Given the description of an element on the screen output the (x, y) to click on. 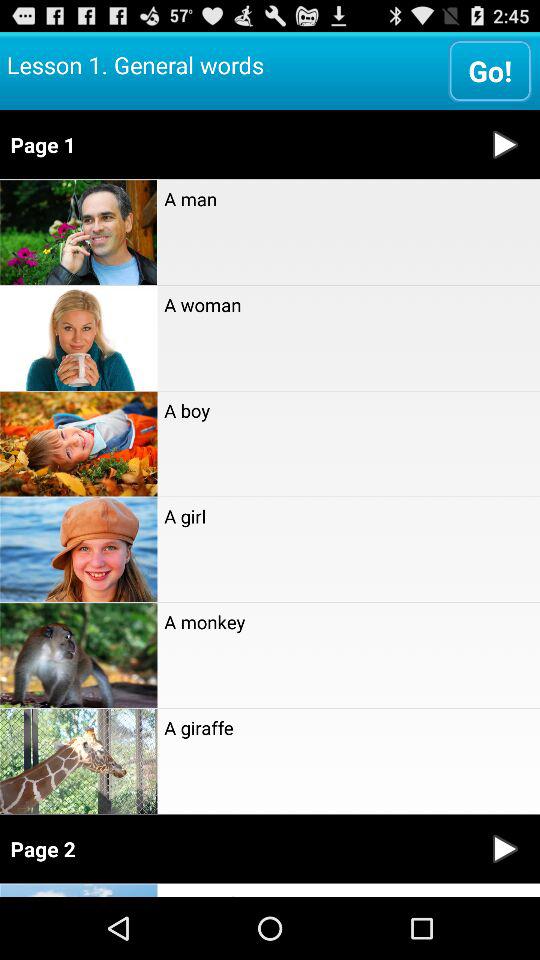
tap icon below the go! item (235, 144)
